Given the description of an element on the screen output the (x, y) to click on. 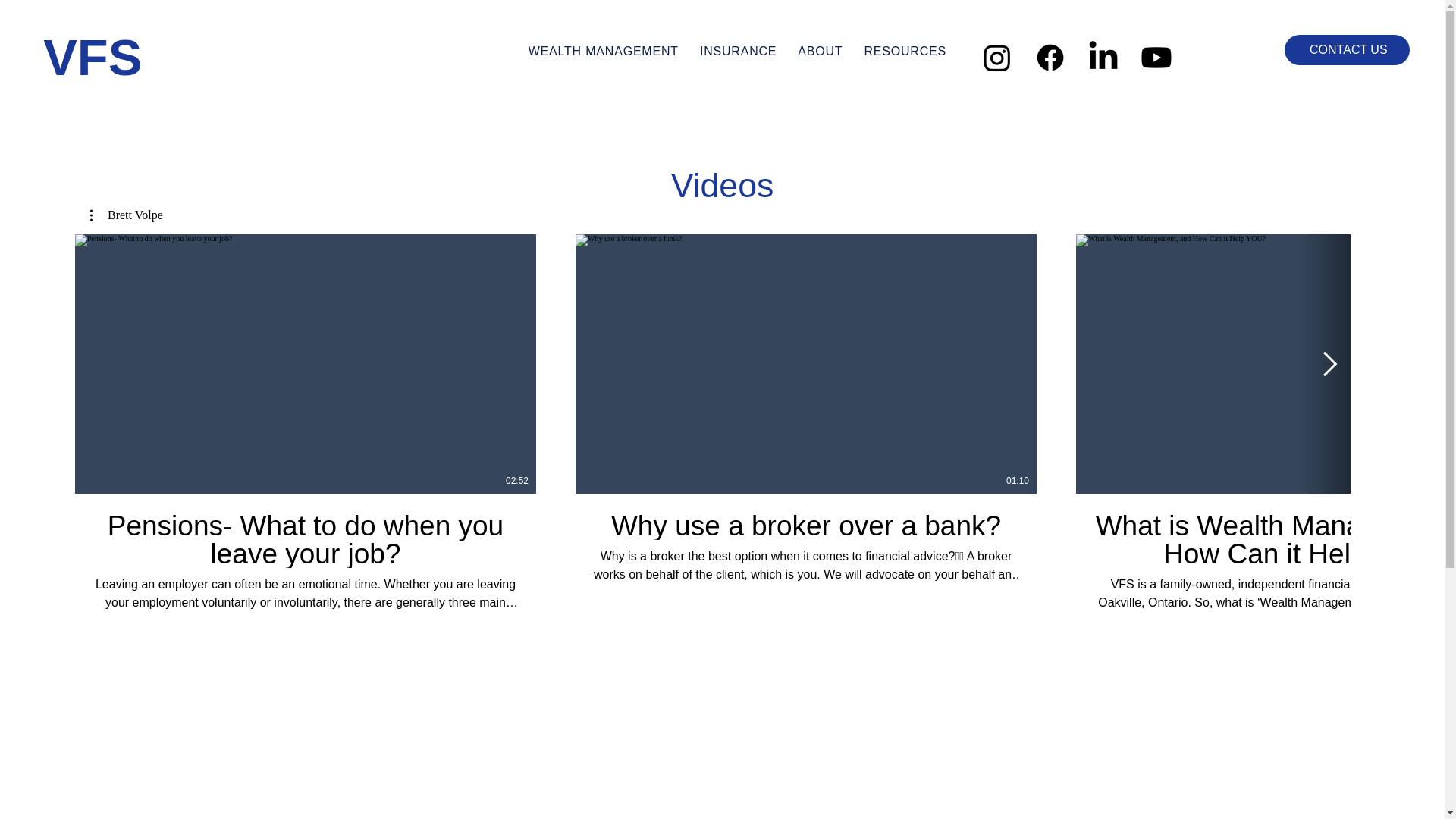
WEALTH MANAGEMENT (603, 51)
Why use a broker over a bank? (806, 524)
ABOUT (820, 51)
INSURANCE (738, 51)
CONTACT US (1346, 50)
VFS (92, 56)
Pensions- What to do when you leave your job? (305, 539)
